Given the description of an element on the screen output the (x, y) to click on. 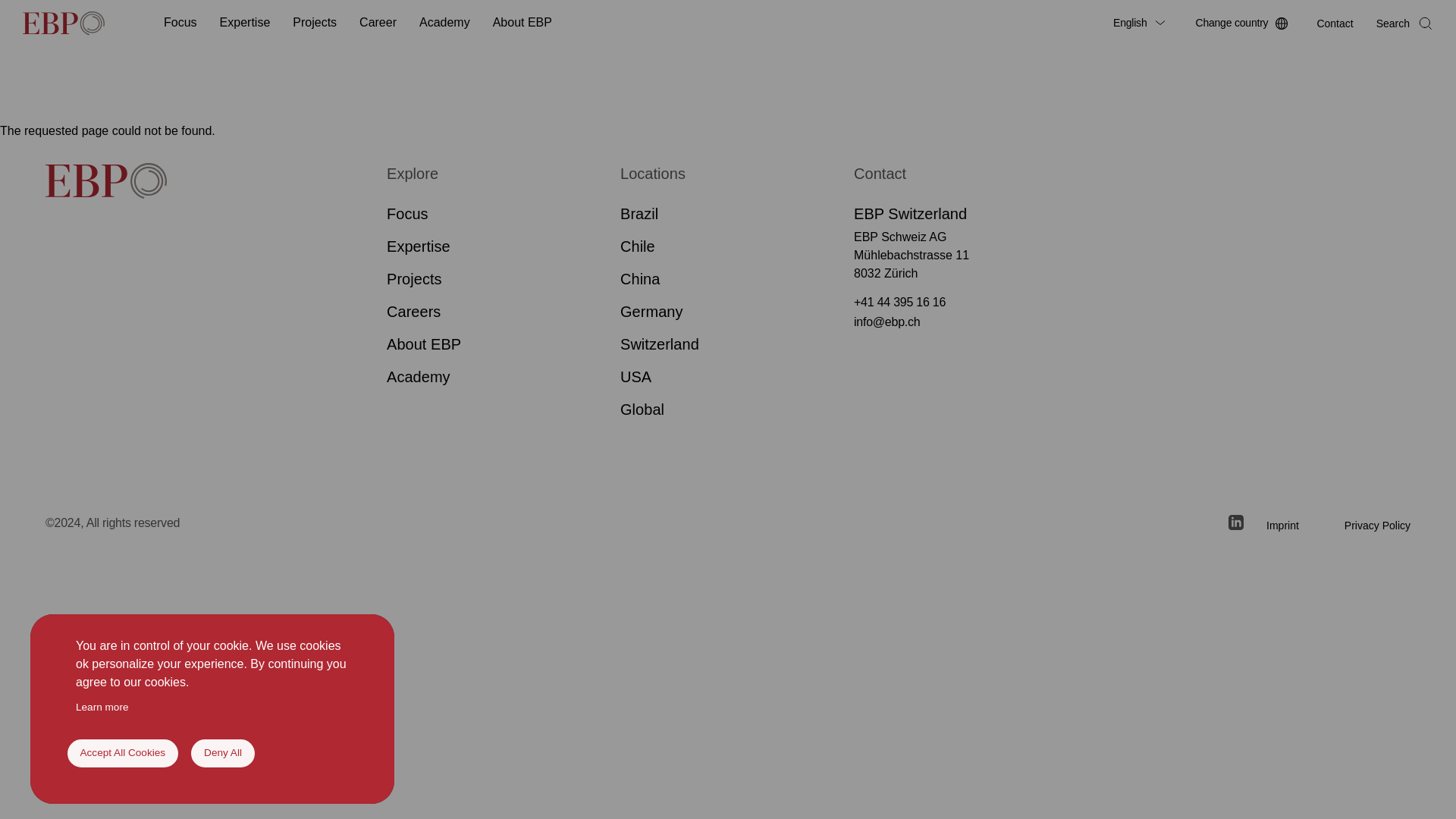
Expertise (244, 22)
About EBP (522, 22)
Career (377, 22)
Skip to main content (727, 46)
Focus (179, 22)
Projects (314, 22)
Academy (444, 22)
